Given the description of an element on the screen output the (x, y) to click on. 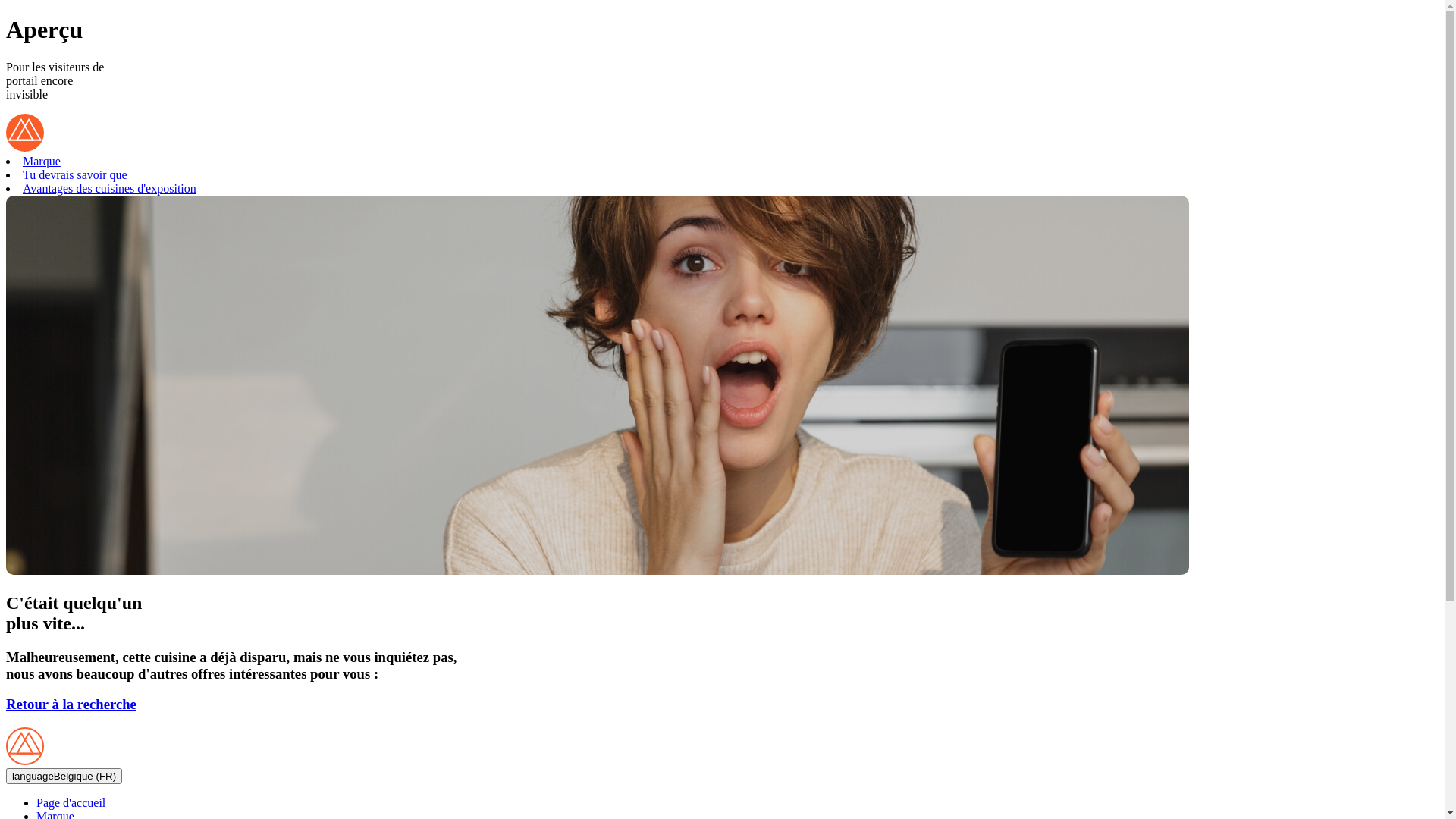
Avantages des cuisines d'exposition Element type: text (109, 188)
Page d'accueil Element type: text (70, 802)
languageBelgique (FR) Element type: text (64, 776)
Tu devrais savoir que Element type: text (74, 174)
Marque Element type: text (41, 160)
